Given the description of an element on the screen output the (x, y) to click on. 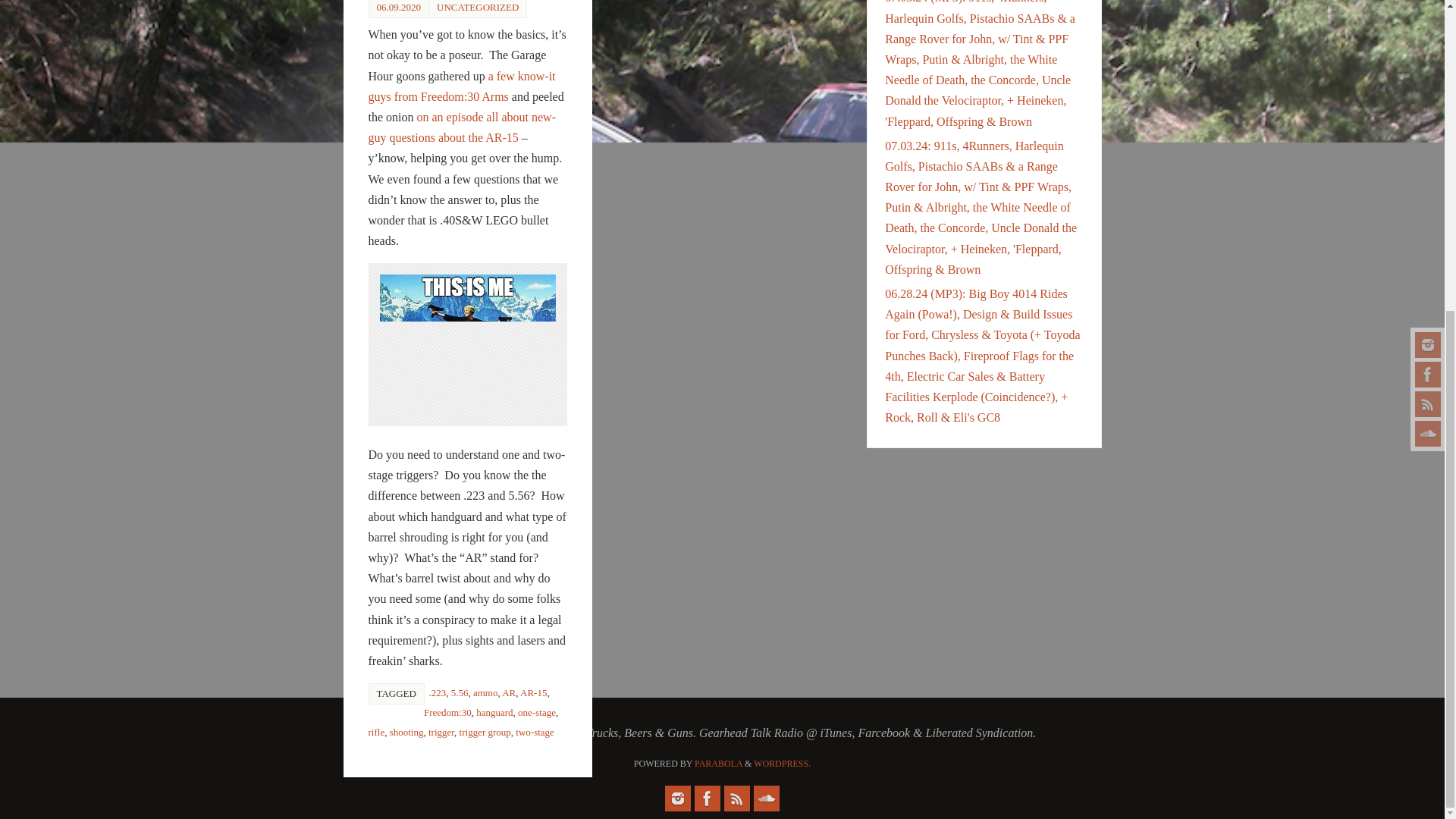
Garage Hour on Instaspam (677, 798)
two-stage (534, 731)
.223 (436, 692)
rifle (376, 731)
Parabola Theme by Cryout Creations (718, 763)
Semantic Personal Publishing Platform (782, 763)
trigger group (485, 731)
5.56 (459, 692)
AR (508, 692)
AR-15 (533, 692)
